Given the description of an element on the screen output the (x, y) to click on. 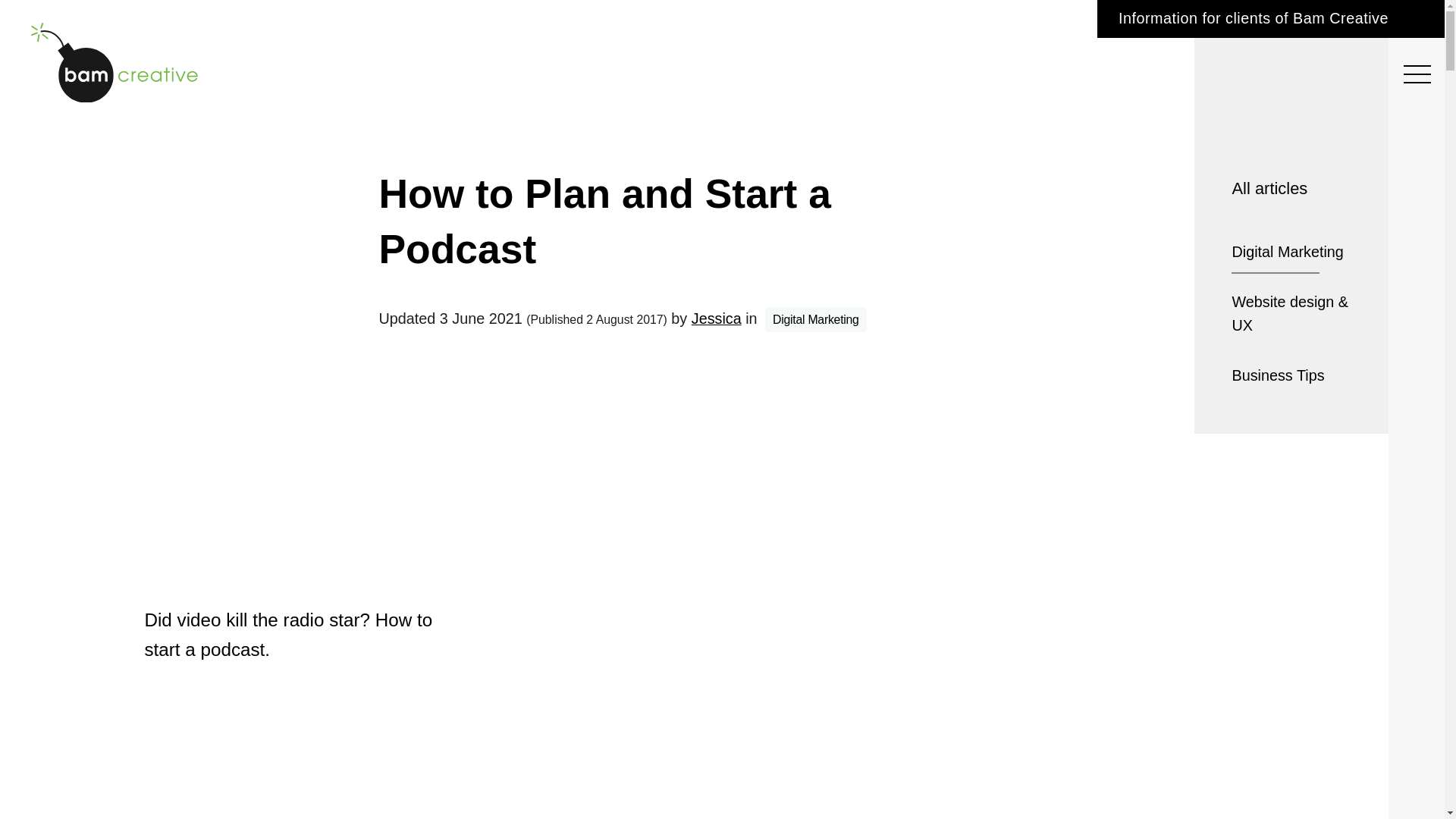
Information for clients of Bam Creative (1267, 19)
All articles (1292, 188)
Digital Marketing (815, 319)
Jessica (716, 318)
Business Tips (1277, 375)
Digital Marketing (1292, 252)
Toggle Menu (1417, 68)
